Given the description of an element on the screen output the (x, y) to click on. 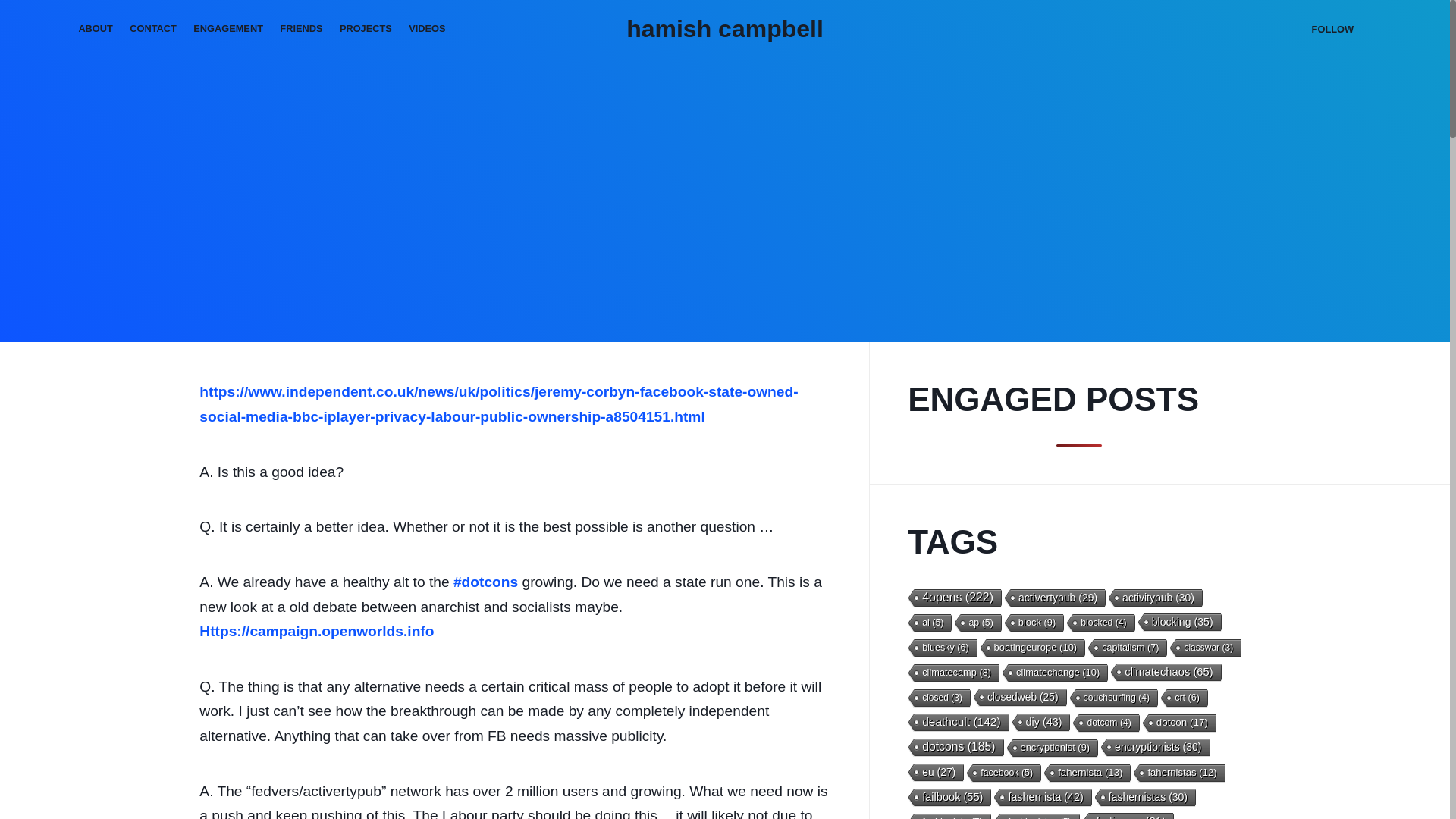
PROJECTS (365, 28)
ABOUT (94, 28)
FOLLOW (1332, 29)
hamish campbell (725, 28)
ENGAGEMENT (227, 28)
VIDEOS (427, 28)
Hamish Campbell (725, 28)
CONTACT (152, 28)
FRIENDS (300, 28)
